Given the description of an element on the screen output the (x, y) to click on. 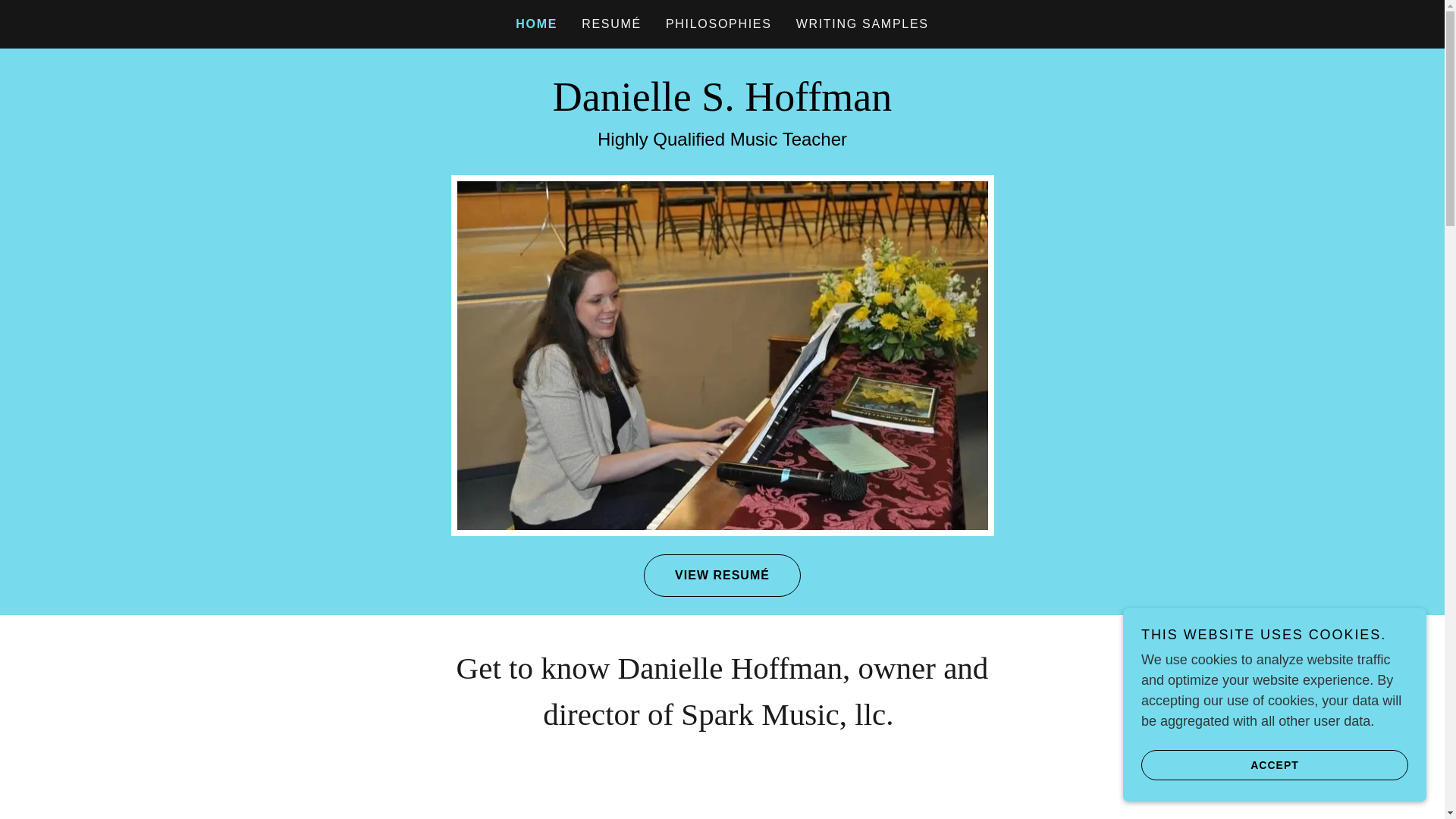
HOME (536, 24)
Danielle S. Hoffman (722, 105)
PHILOSOPHIES (718, 23)
Danielle S. Hoffman (722, 105)
ACCEPT (1274, 764)
WRITING SAMPLES (862, 23)
